Given the description of an element on the screen output the (x, y) to click on. 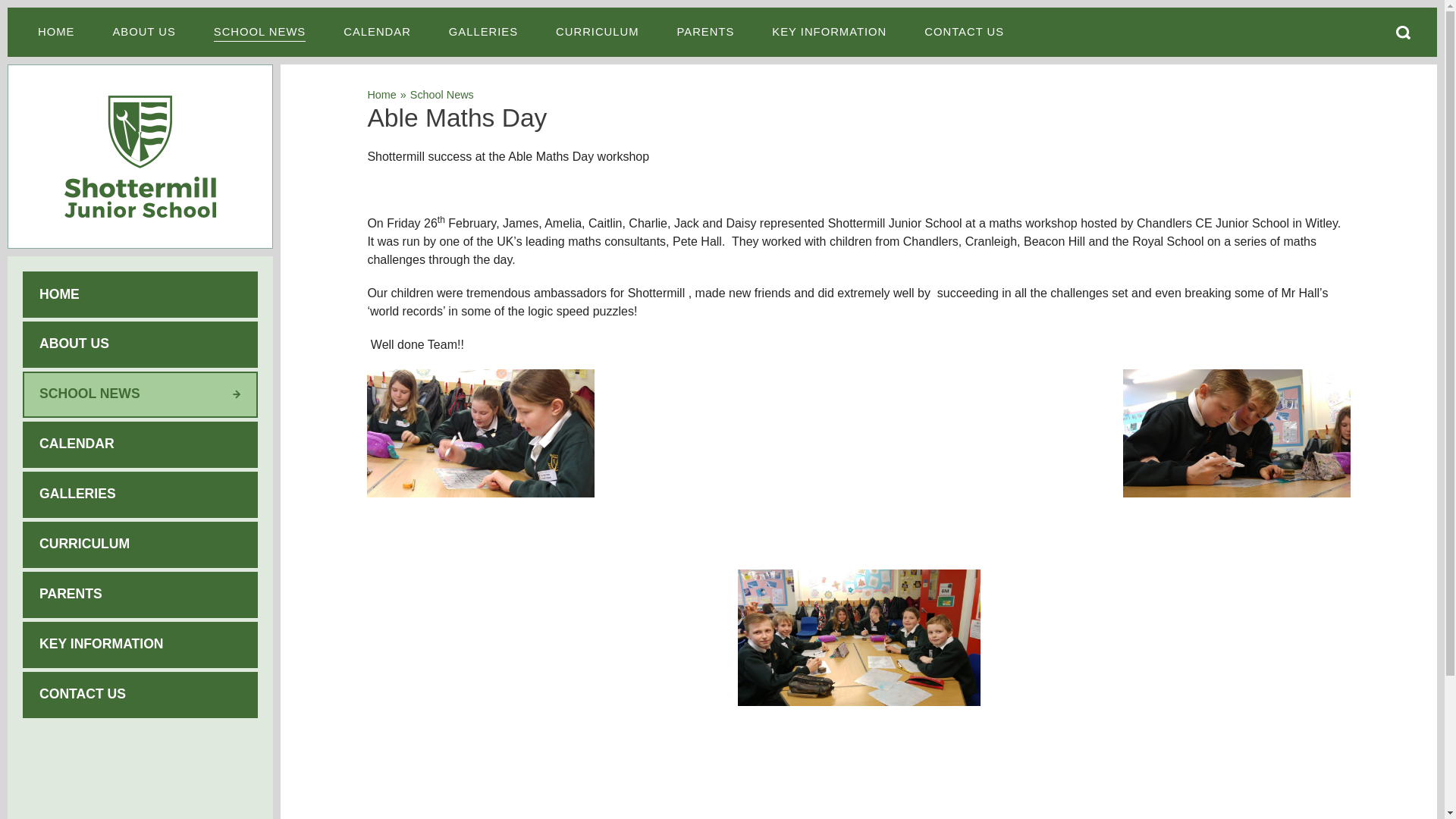
SCHOOL NEWS (259, 31)
GALLERIES (483, 31)
ABOUT US (143, 31)
CALENDAR (376, 31)
CURRICULUM (597, 31)
